Given the description of an element on the screen output the (x, y) to click on. 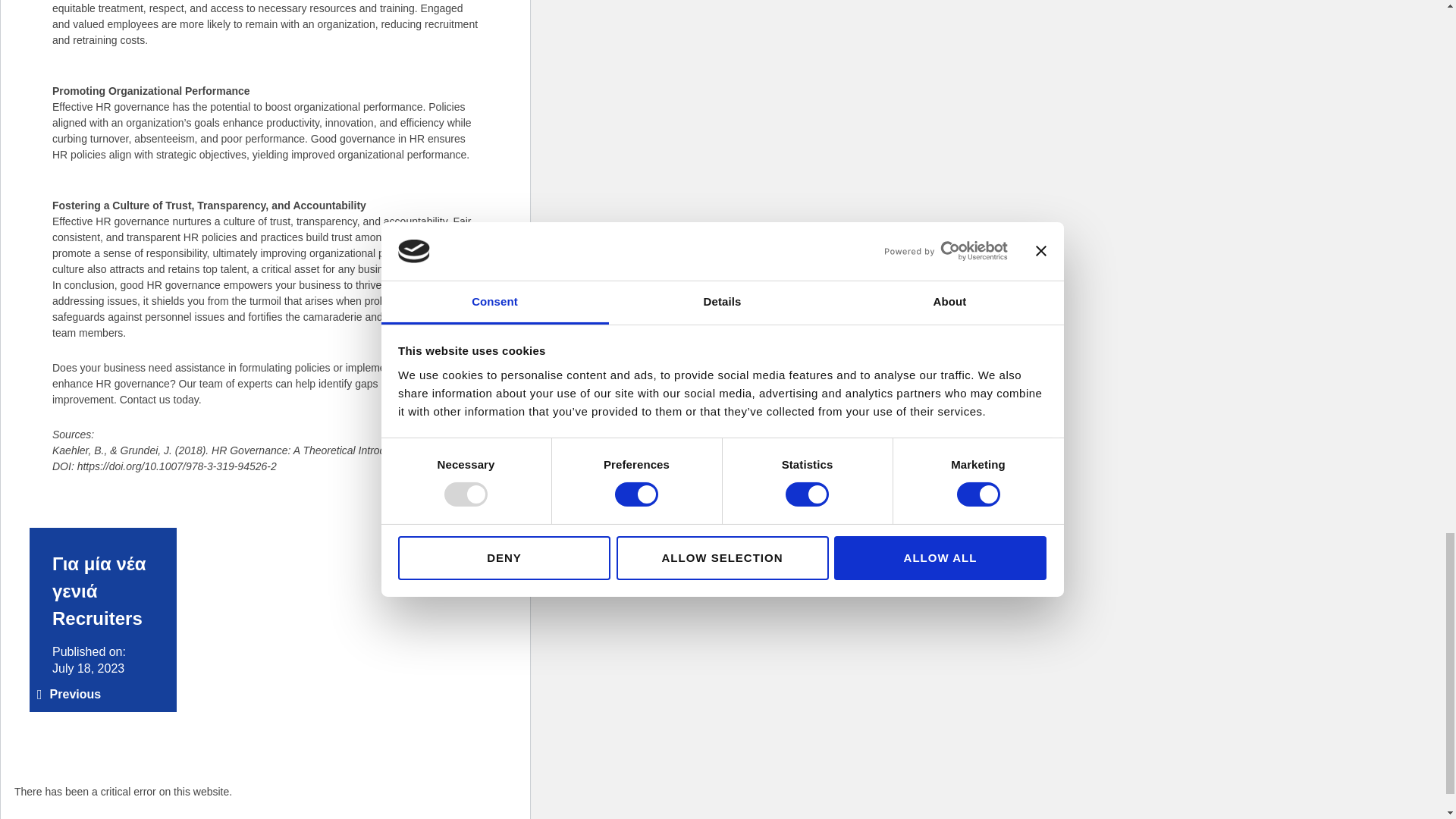
July 18, 2023 (87, 668)
Previous (68, 694)
